Given the description of an element on the screen output the (x, y) to click on. 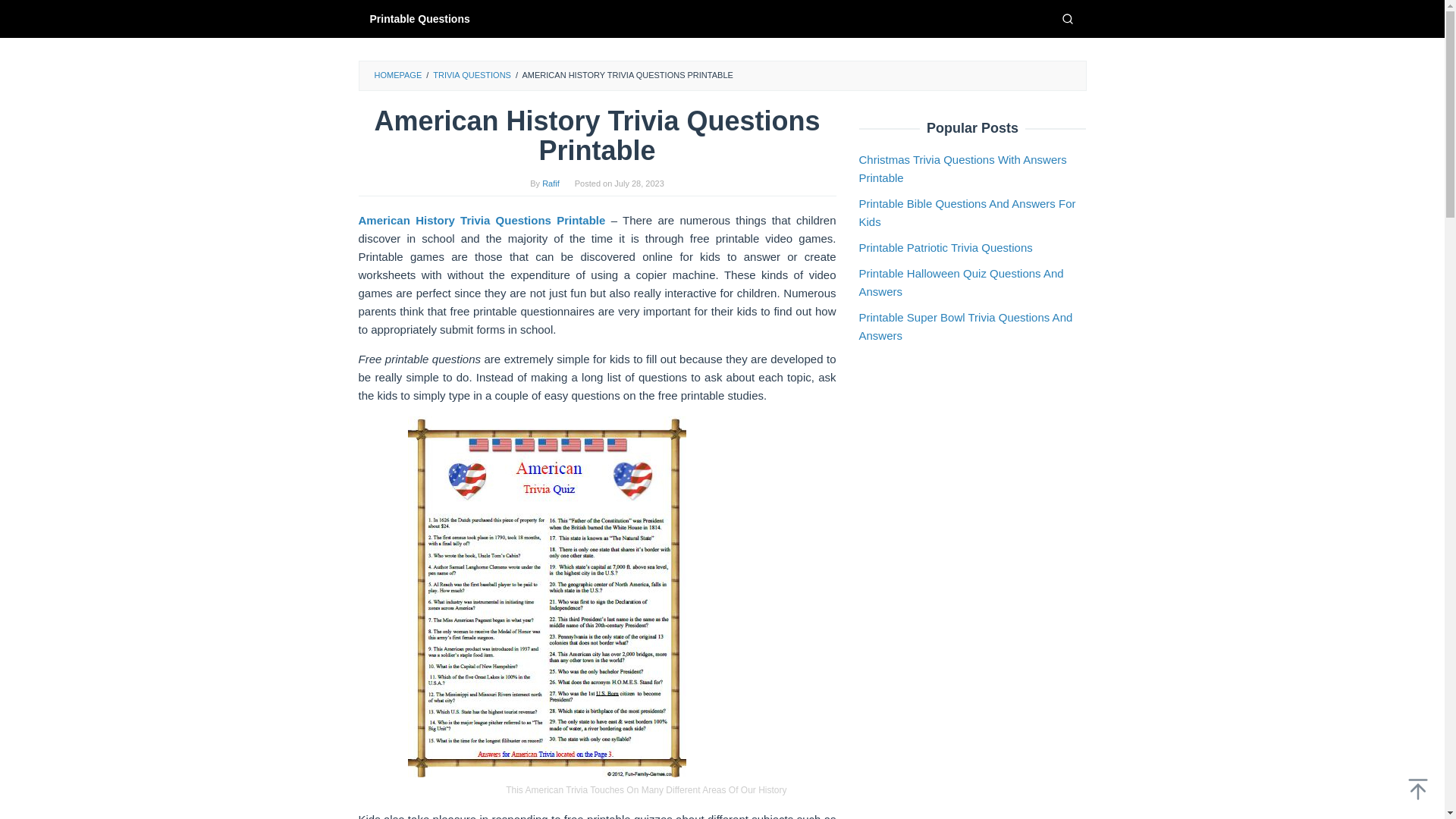
Rafif (550, 183)
American History Trivia Questions Printable (481, 219)
HOMEPAGE (398, 74)
Printable Bible Questions And Answers For Kids (967, 212)
TRIVIA QUESTIONS (471, 74)
Printable Questions (419, 18)
Christmas Trivia Questions With Answers Printable (962, 168)
Permalink to: Rafif (550, 183)
Search (1067, 18)
